Given the description of an element on the screen output the (x, y) to click on. 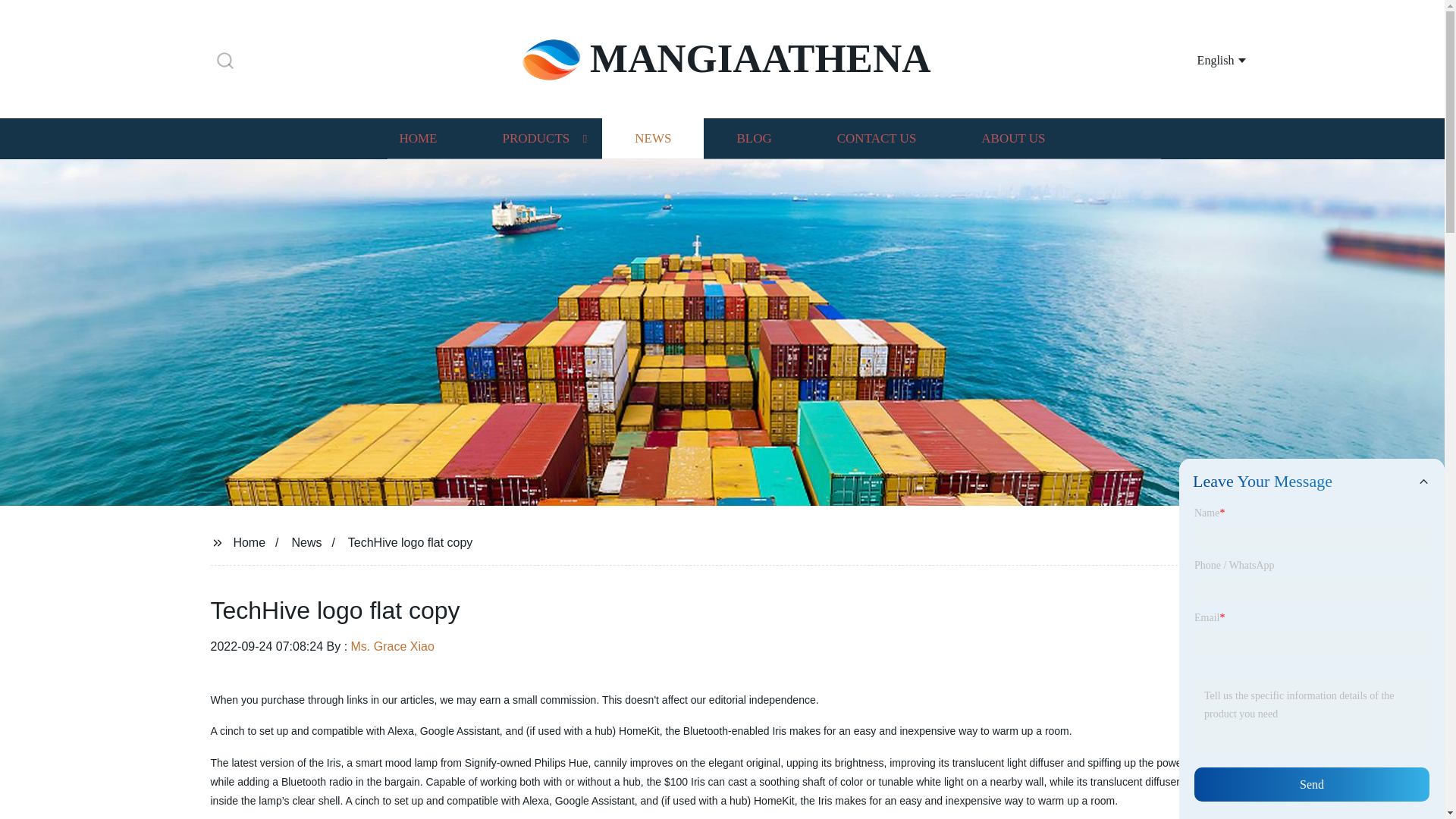
News (306, 541)
CONTACT US (877, 137)
English (1203, 59)
English (1203, 59)
HOME (417, 137)
ABOUT US (1013, 137)
PRODUCTS (535, 137)
BLOG (753, 137)
Home (248, 541)
Top (1404, 779)
NEWS (652, 137)
